Given the description of an element on the screen output the (x, y) to click on. 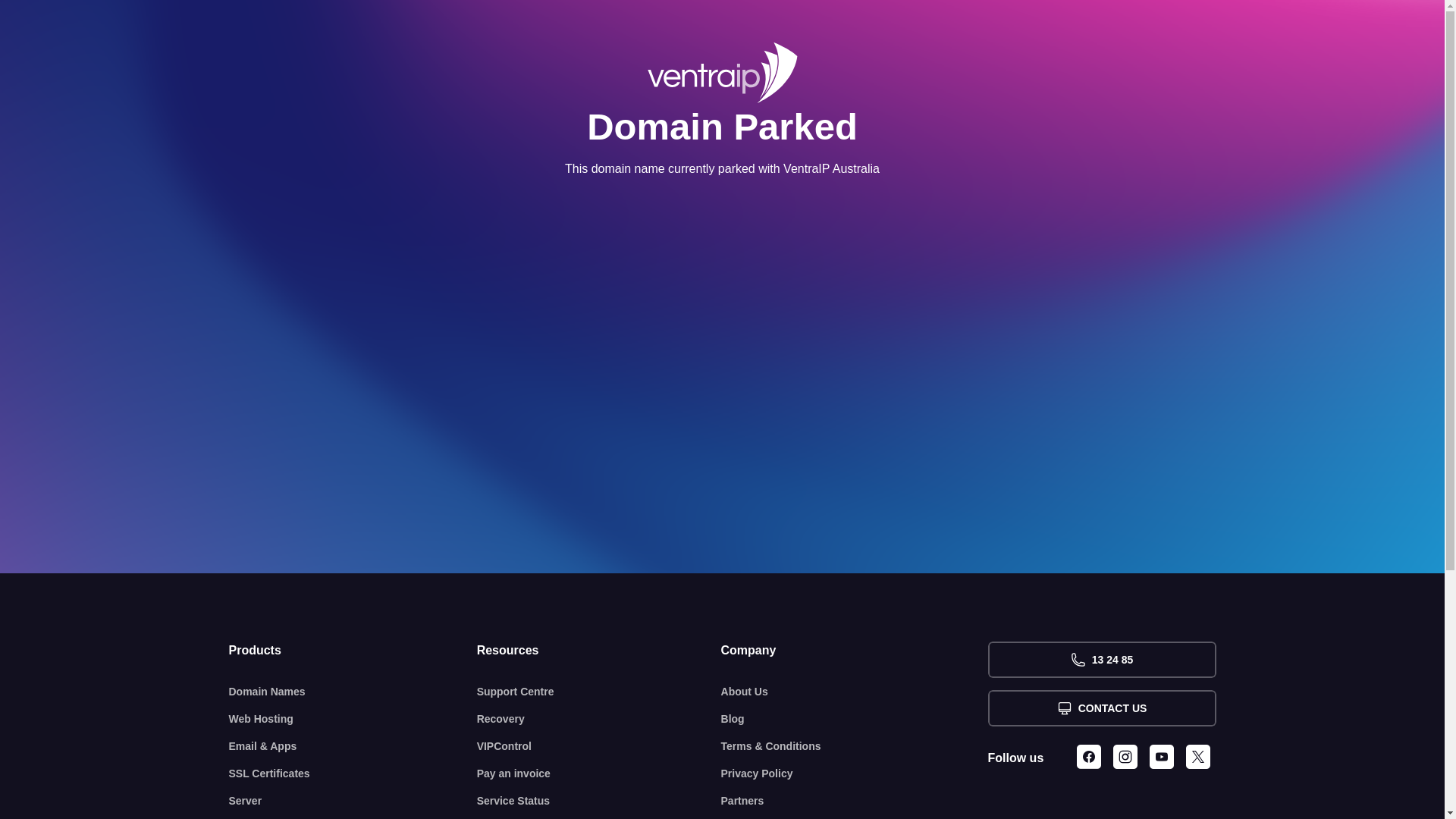
Support Centre Element type: text (598, 691)
About Us Element type: text (854, 691)
CONTACT US Element type: text (1101, 708)
Server Element type: text (352, 800)
Email & Apps Element type: text (352, 745)
Privacy Policy Element type: text (854, 773)
VIPControl Element type: text (598, 745)
SSL Certificates Element type: text (352, 773)
Domain Names Element type: text (352, 691)
Blog Element type: text (854, 718)
Pay an invoice Element type: text (598, 773)
Web Hosting Element type: text (352, 718)
13 24 85 Element type: text (1101, 659)
Recovery Element type: text (598, 718)
Partners Element type: text (854, 800)
Terms & Conditions Element type: text (854, 745)
Service Status Element type: text (598, 800)
